Given the description of an element on the screen output the (x, y) to click on. 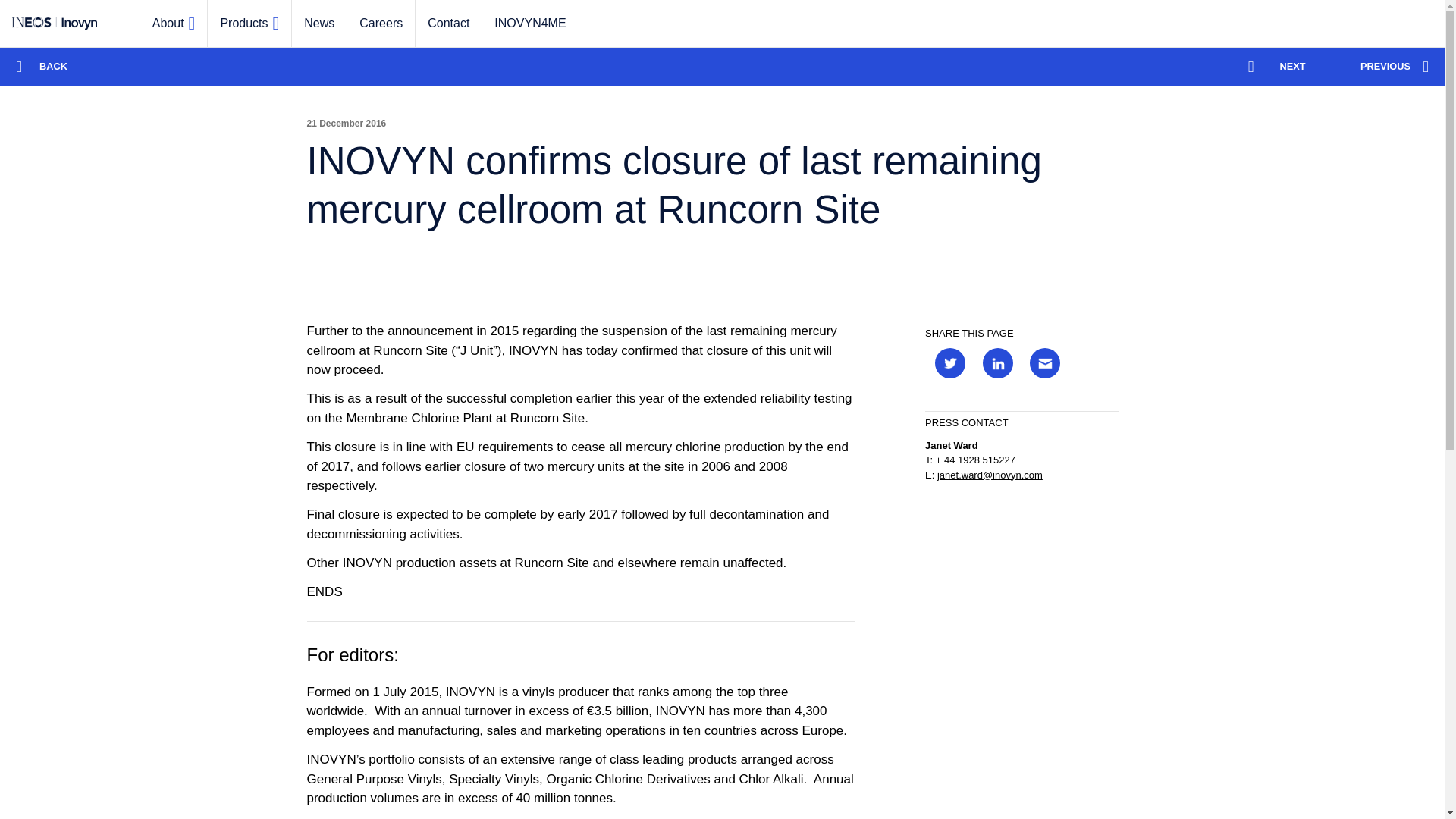
Careers (380, 23)
Careers (380, 23)
Products (249, 23)
News (319, 23)
News (319, 23)
About (173, 23)
Products (249, 23)
Contact (447, 23)
BACK (42, 66)
INOVYN4ME (529, 23)
INOVYN4ME (529, 23)
Contact (447, 23)
About (173, 23)
NEXT (1284, 66)
